Given the description of an element on the screen output the (x, y) to click on. 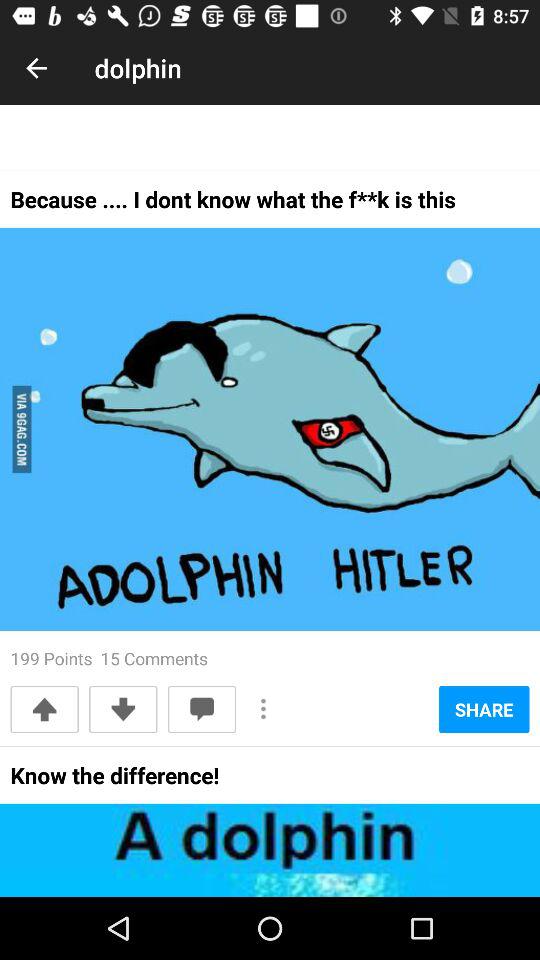
press share item (484, 709)
